Given the description of an element on the screen output the (x, y) to click on. 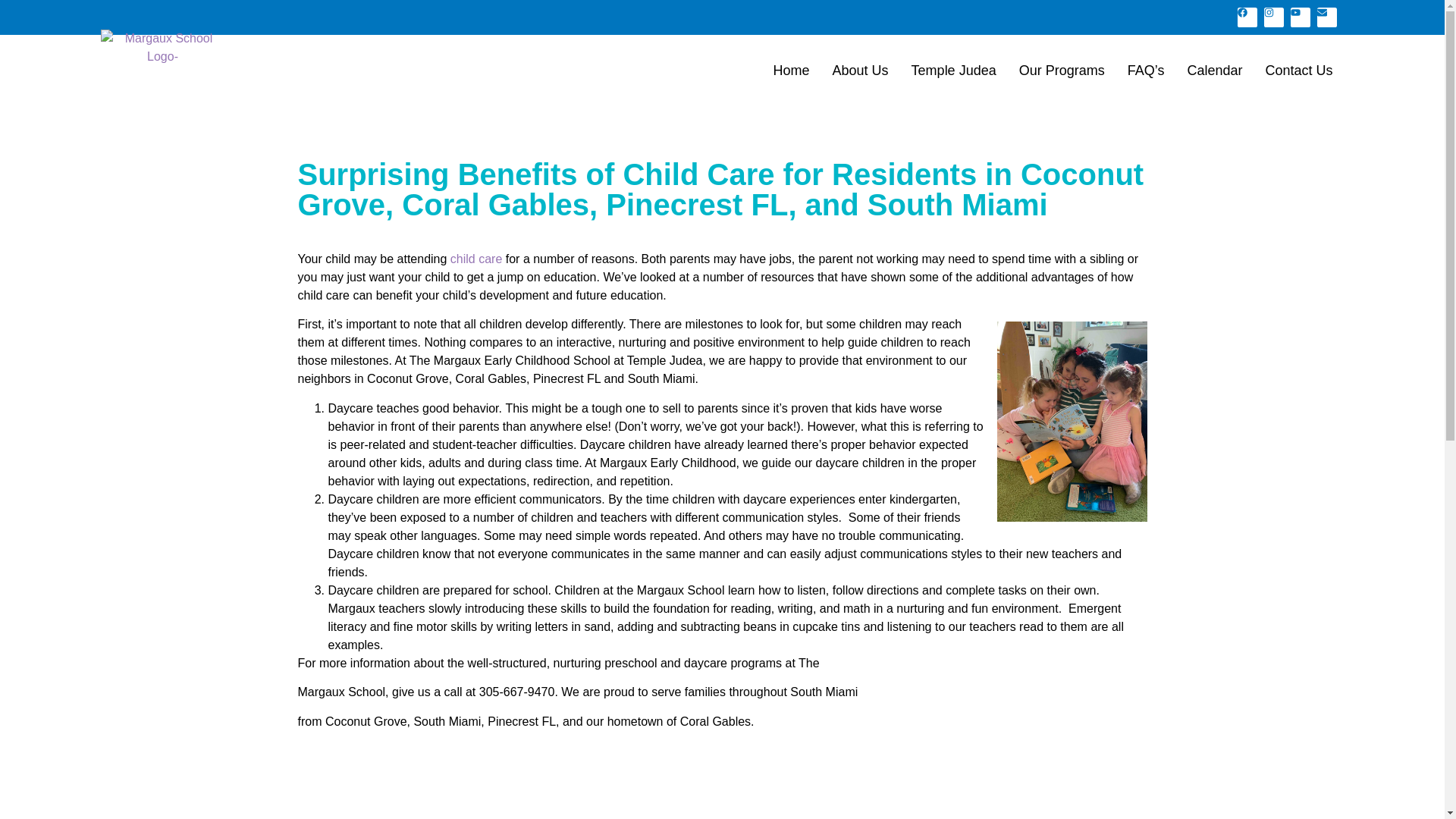
About Us (860, 70)
Temple Judea (953, 70)
Margaux School Logo- (162, 47)
Our Programs (1061, 70)
Contact Us (1298, 70)
Calendar (1213, 70)
Home (791, 70)
